Given the description of an element on the screen output the (x, y) to click on. 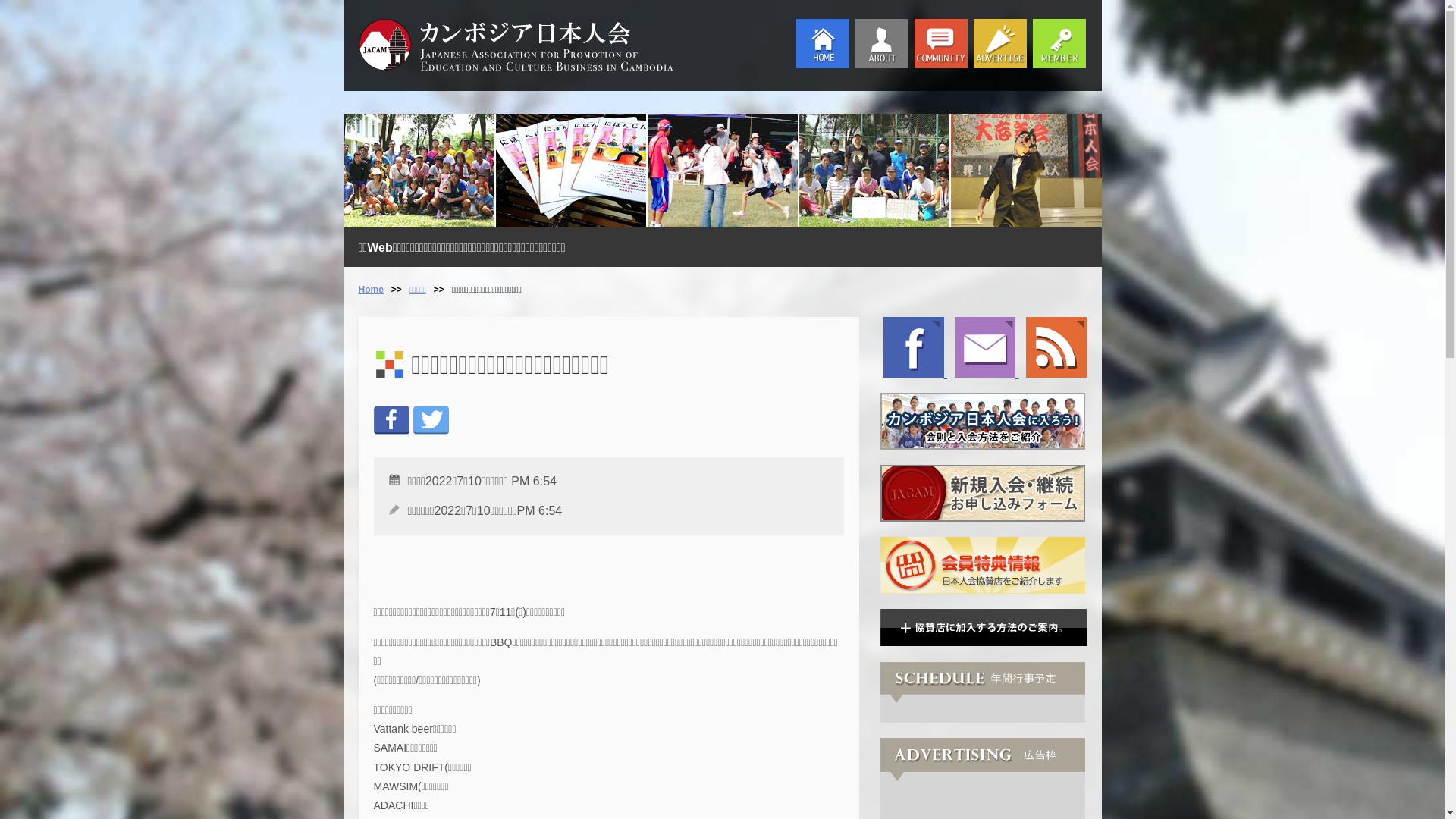
Home Element type: text (369, 289)
